Given the description of an element on the screen output the (x, y) to click on. 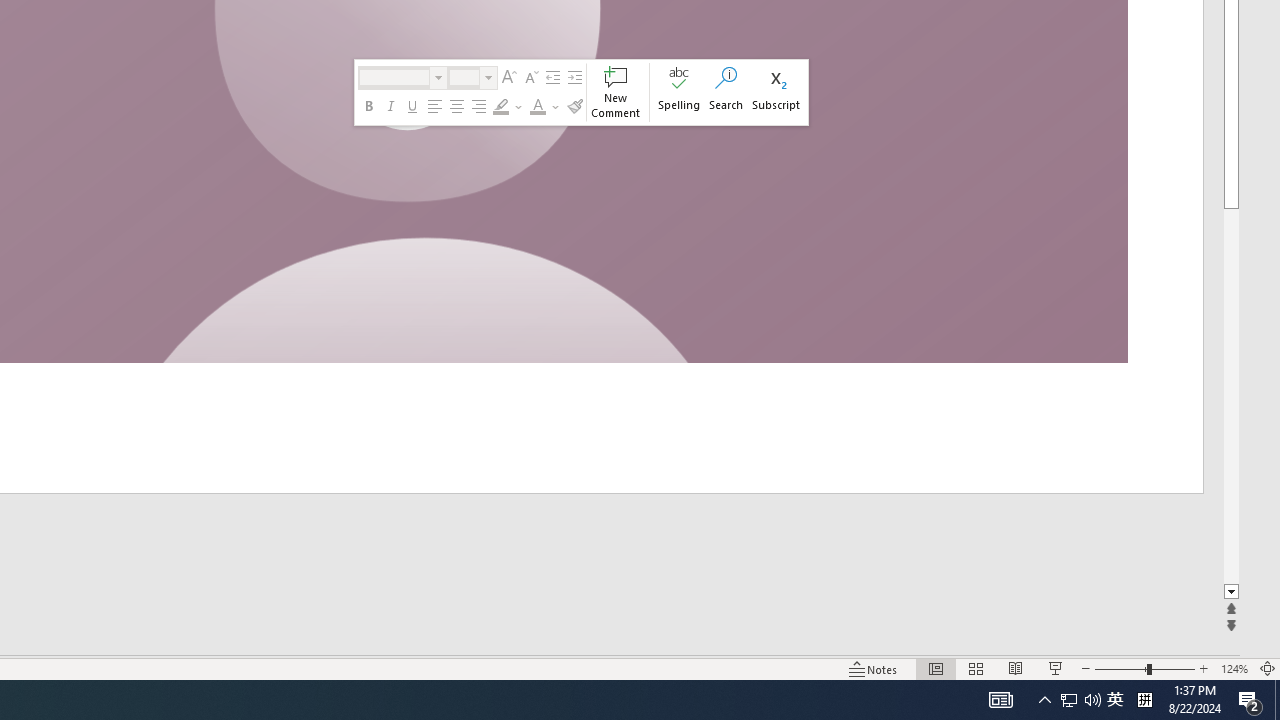
Spelling... (679, 92)
Class: NetUIToolWindow (581, 92)
Class: NetUITextbox (464, 77)
